Given the description of an element on the screen output the (x, y) to click on. 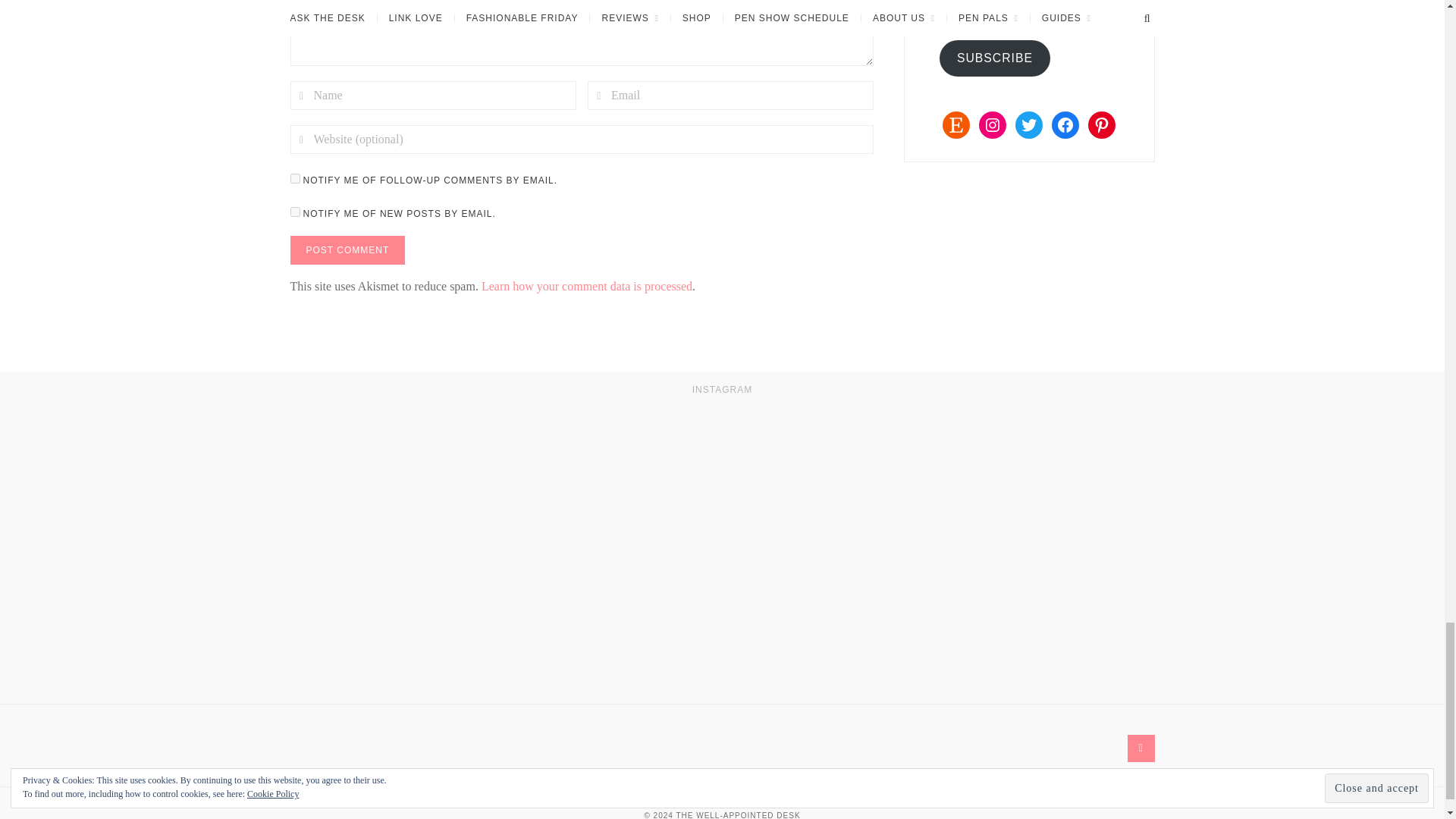
Post Comment (346, 249)
subscribe (294, 178)
subscribe (294, 212)
